Given the description of an element on the screen output the (x, y) to click on. 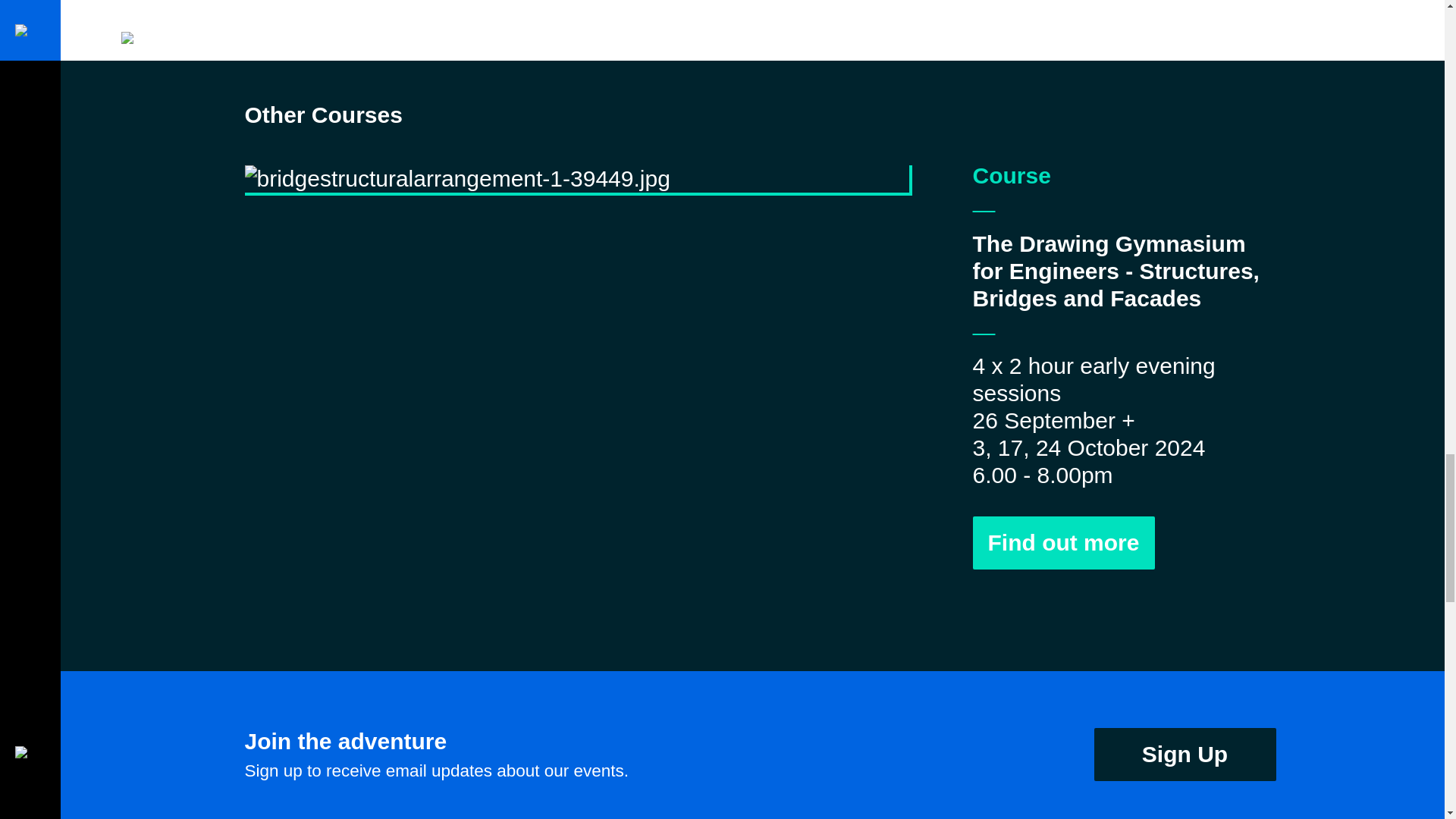
Find out more (1063, 542)
Sign Up (1184, 754)
